Given the description of an element on the screen output the (x, y) to click on. 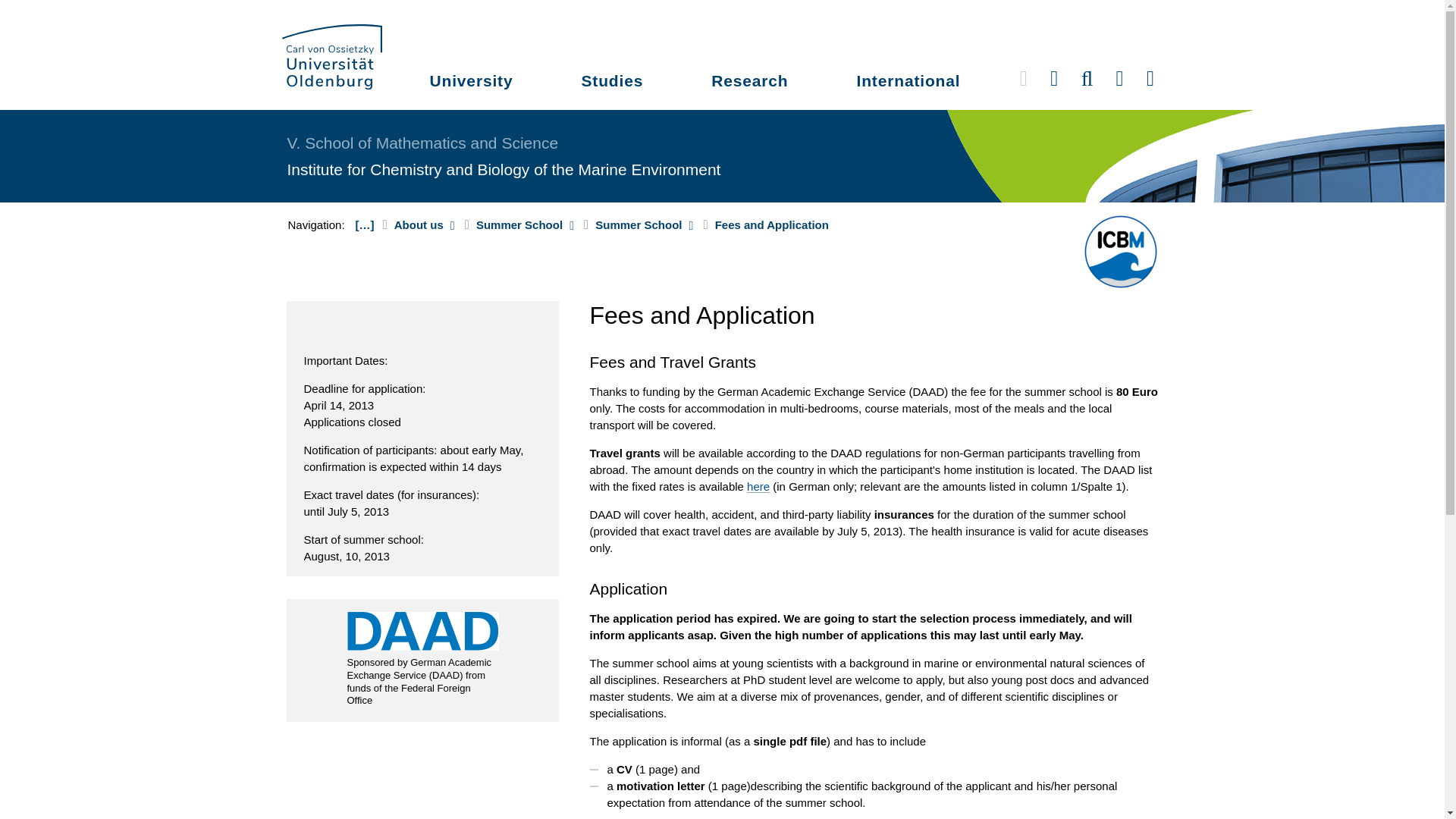
Studies (612, 83)
University (471, 83)
University (471, 83)
